Given the description of an element on the screen output the (x, y) to click on. 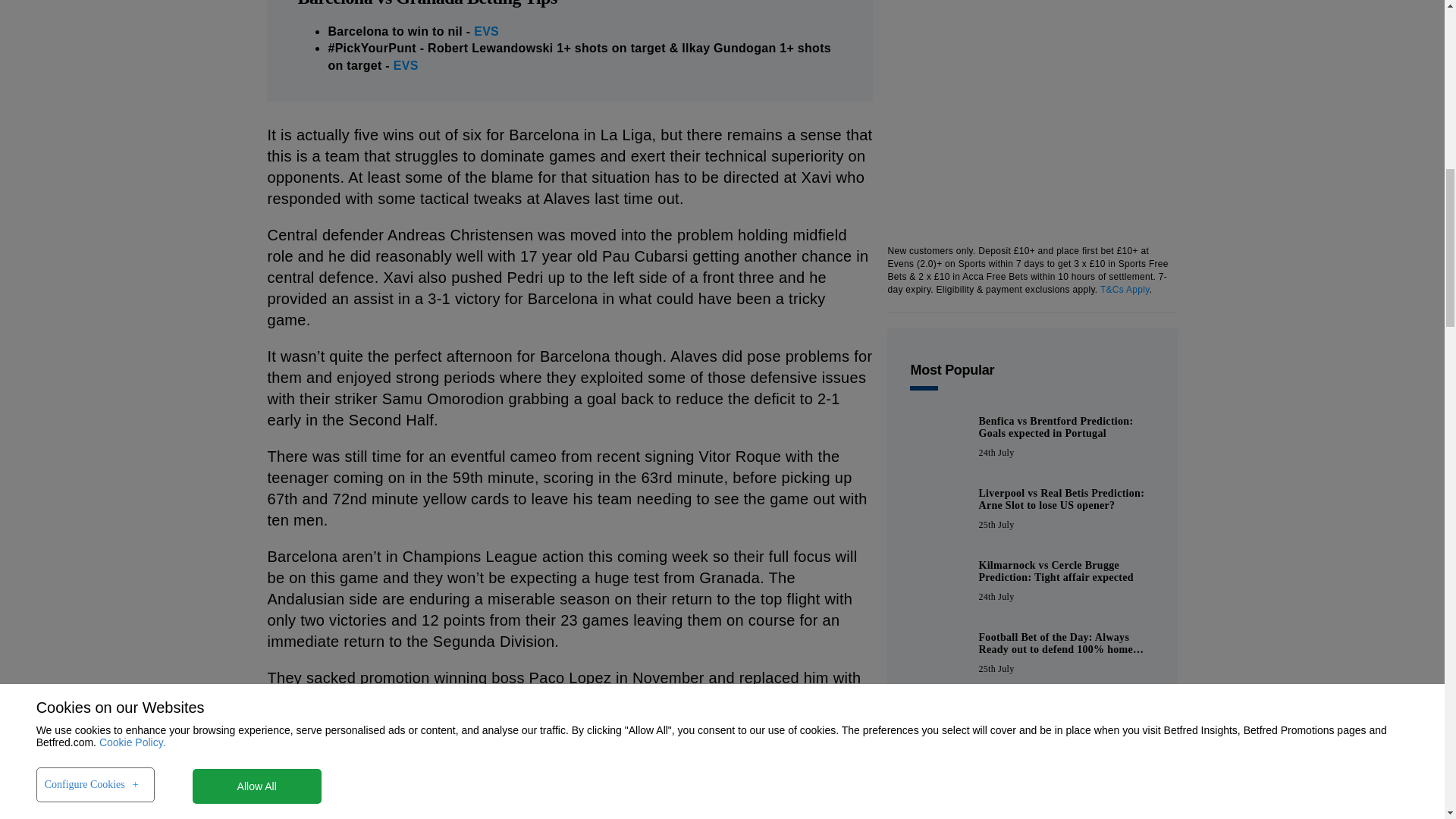
Benfica vs Brentford Prediction: Goals expected in Portugal (938, 437)
